Given the description of an element on the screen output the (x, y) to click on. 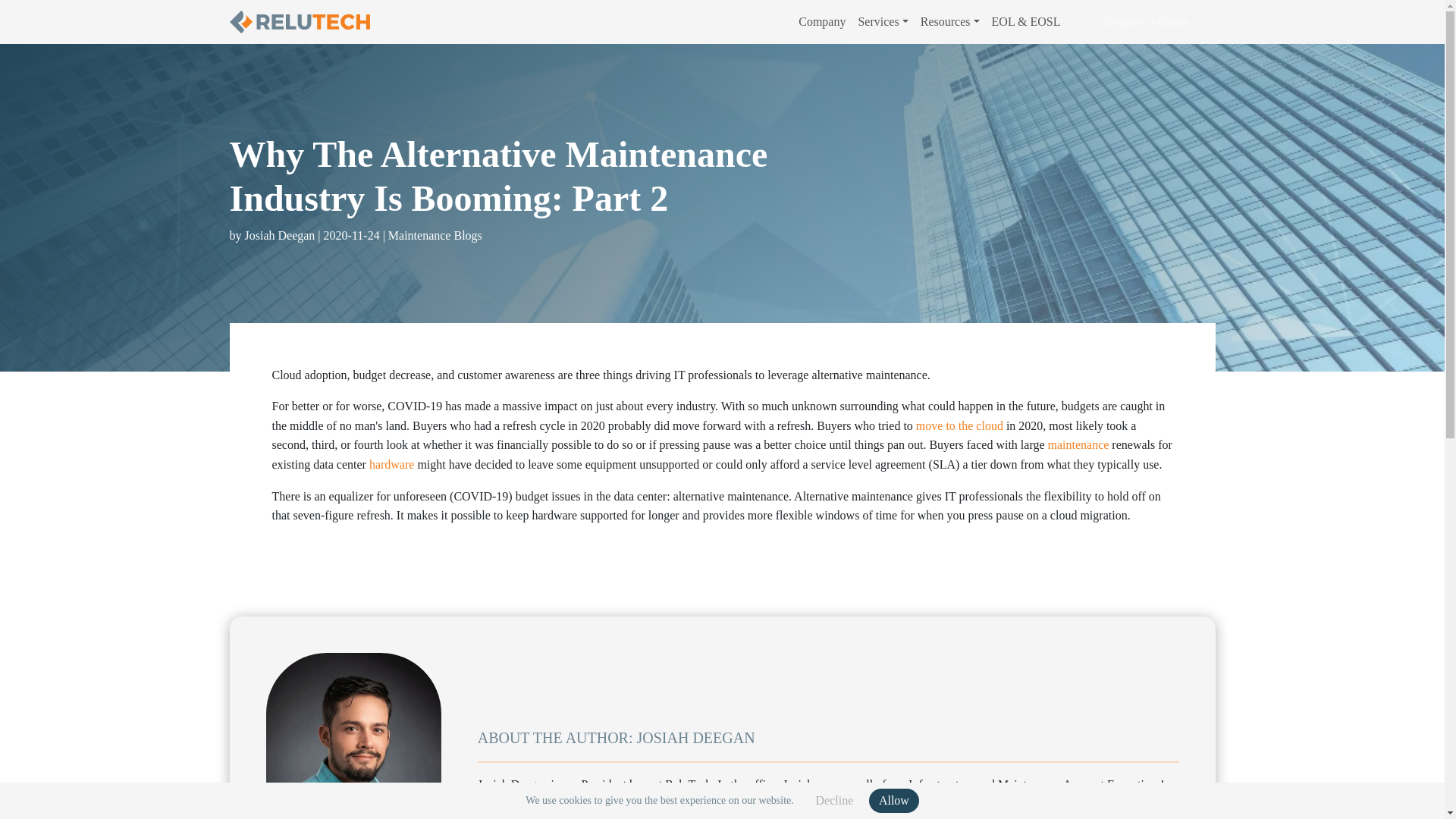
move to the cloud (959, 425)
Request a Quote (1146, 21)
Allow (893, 800)
Services (882, 21)
Company (821, 21)
maintenance (1078, 444)
Josiah Deegan (352, 735)
Resources (949, 21)
Decline (834, 800)
Maintenance Blogs (434, 235)
